Given the description of an element on the screen output the (x, y) to click on. 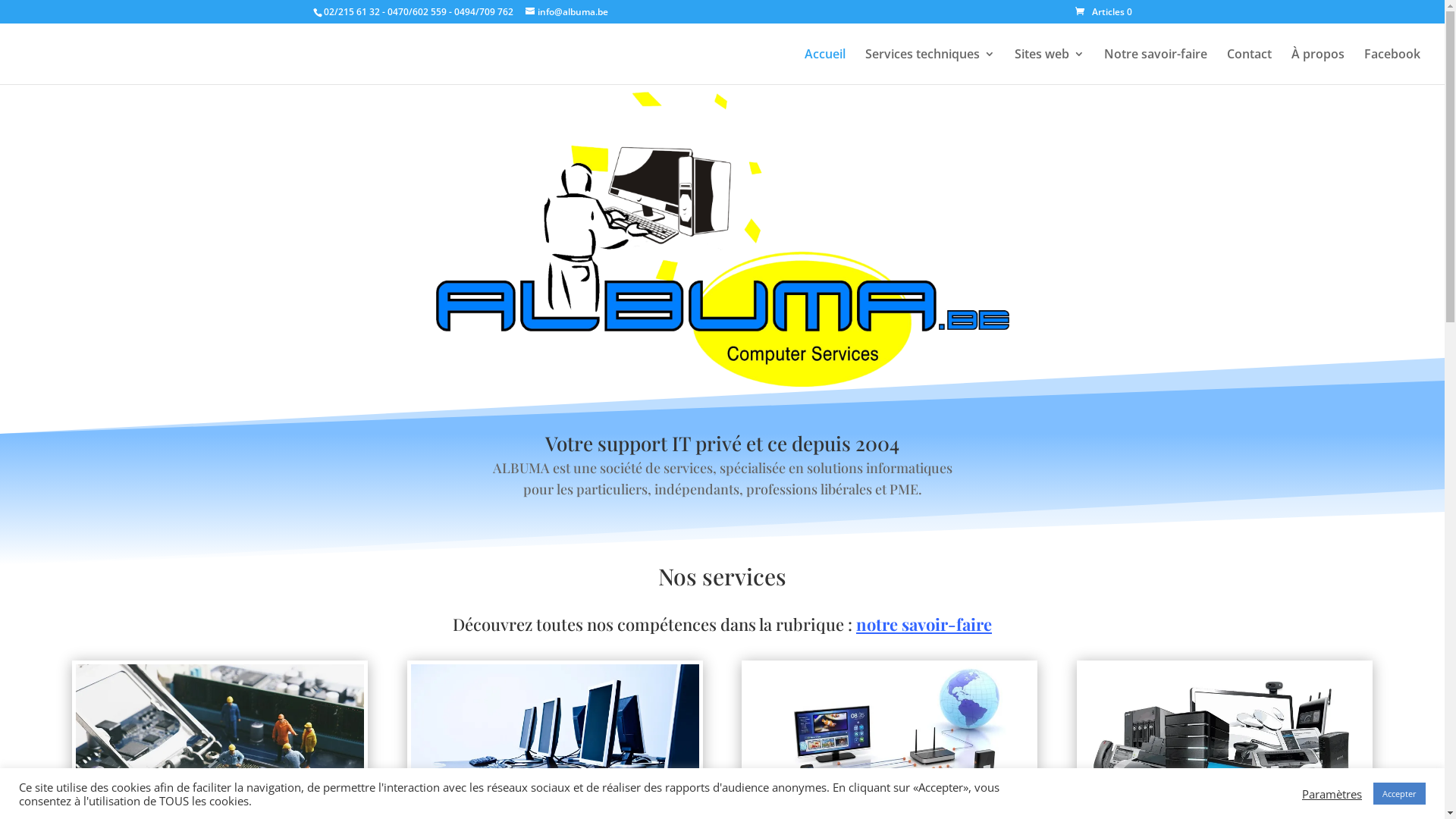
Sites web Element type: text (1049, 66)
0470/602 559 Element type: text (415, 11)
info@albuma.be Element type: text (565, 11)
02/215 61 32 Element type: text (351, 11)
Contact Element type: text (1248, 66)
Notre savoir-faire Element type: text (1155, 66)
Articles 0 Element type: text (1103, 11)
Services techniques Element type: text (929, 66)
Accepter Element type: text (1399, 793)
Accueil Element type: text (824, 66)
Facebook Element type: text (1392, 66)
notre savoir-faire Element type: text (923, 623)
0494/709 762 Element type: text (482, 11)
